Given the description of an element on the screen output the (x, y) to click on. 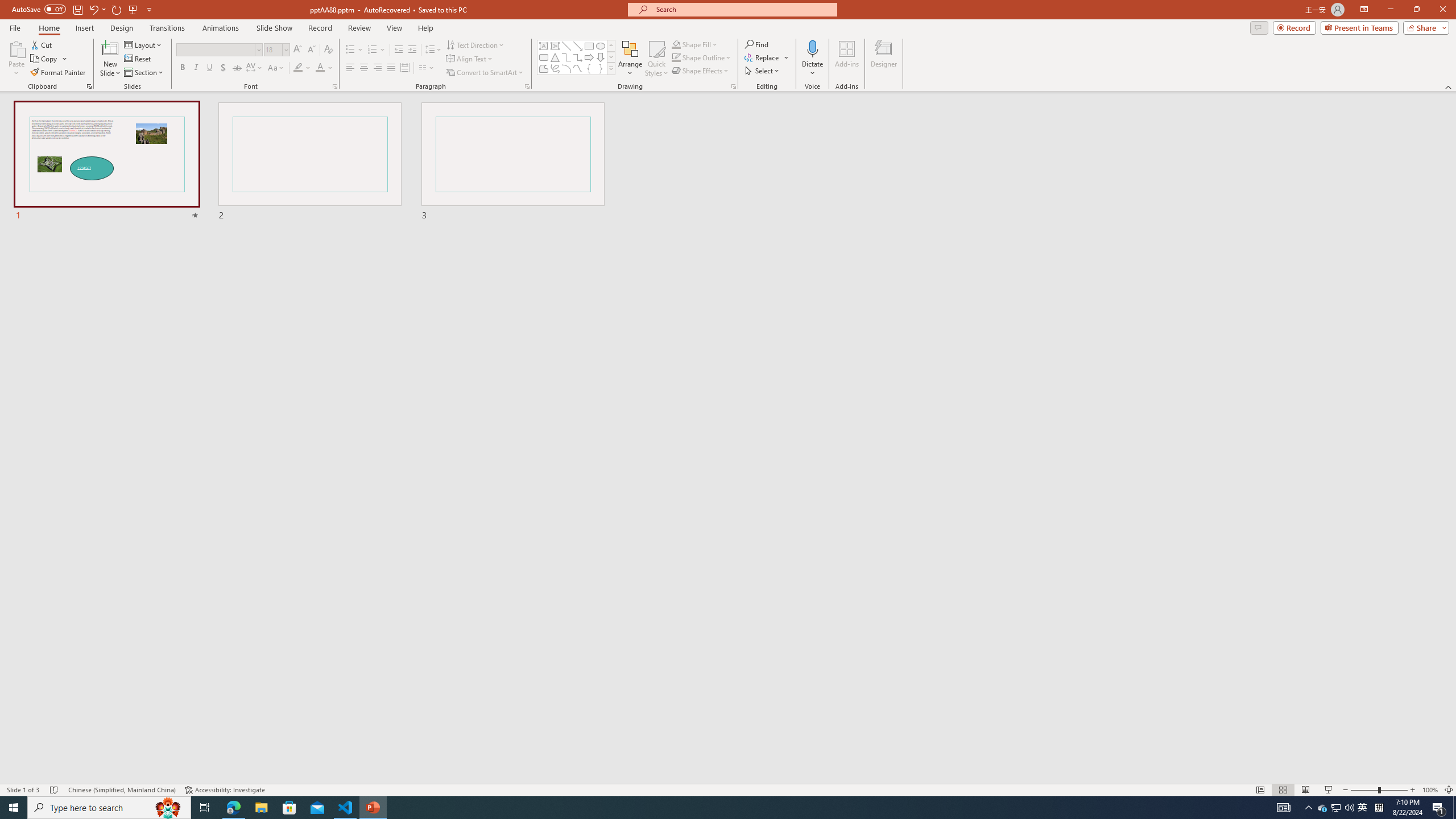
Layout (143, 44)
Connector: Elbow Arrow (577, 57)
Align Right (377, 67)
Justify (390, 67)
Shape Outline (701, 56)
Columns (426, 67)
Convert to SmartArt (485, 72)
Bold (182, 67)
Connector: Elbow (566, 57)
